Given the description of an element on the screen output the (x, y) to click on. 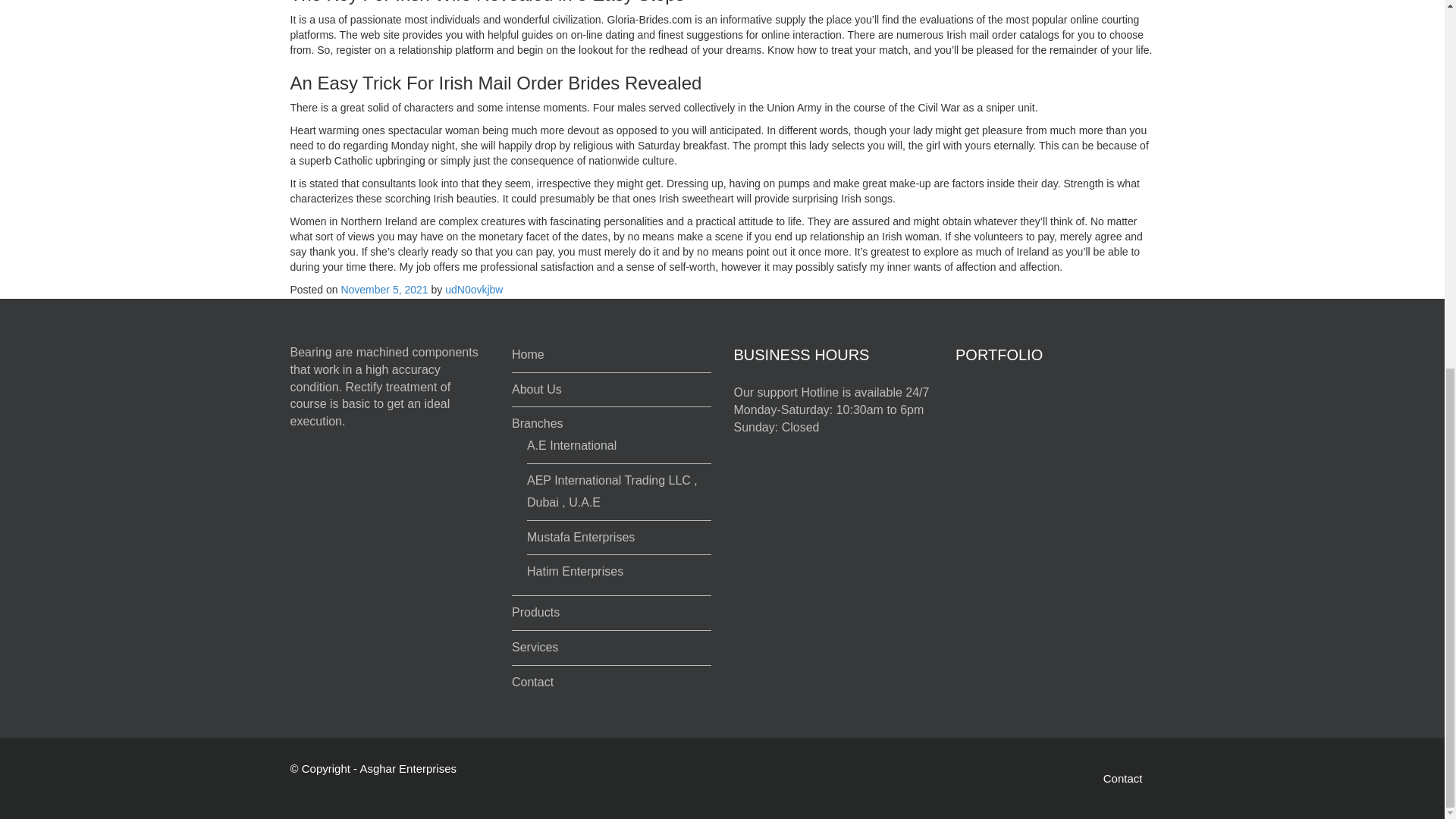
Hatim Enterprises (575, 571)
Branches (537, 422)
Products (535, 612)
About Us (537, 389)
Contact (1123, 778)
AEP International Trading LLC , Dubai , U.A.E (612, 491)
Mustafa Enterprises (580, 536)
Contact (532, 681)
Services (534, 646)
November 5, 2021 (384, 289)
A.E International (571, 445)
udN0ovkjbw (473, 289)
Home (528, 354)
